Given the description of an element on the screen output the (x, y) to click on. 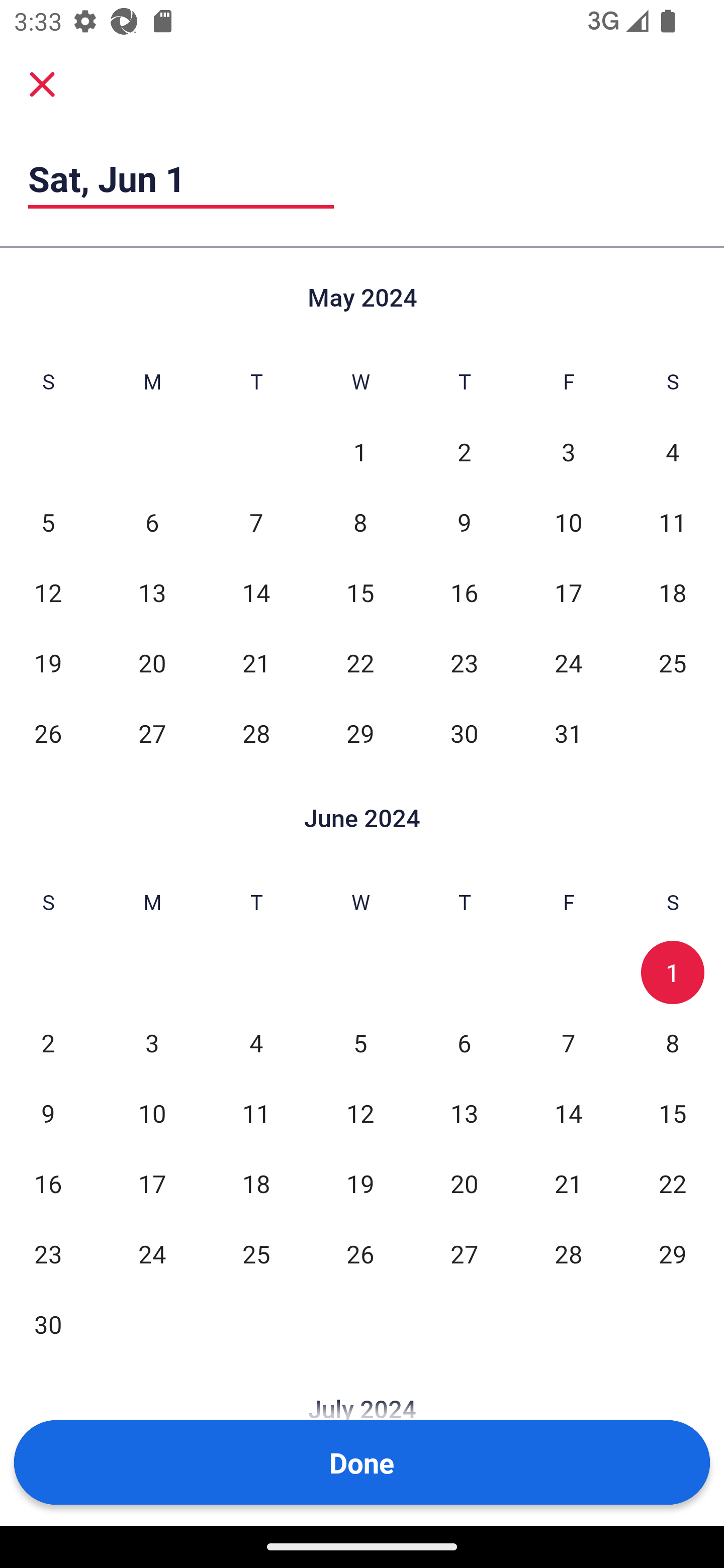
Cancel (41, 83)
Sat, Jun 1 (180, 178)
1 Wed, May 1, Not Selected (360, 452)
2 Thu, May 2, Not Selected (464, 452)
3 Fri, May 3, Not Selected (568, 452)
4 Sat, May 4, Not Selected (672, 452)
5 Sun, May 5, Not Selected (48, 521)
6 Mon, May 6, Not Selected (152, 521)
7 Tue, May 7, Not Selected (256, 521)
8 Wed, May 8, Not Selected (360, 521)
9 Thu, May 9, Not Selected (464, 521)
10 Fri, May 10, Not Selected (568, 521)
11 Sat, May 11, Not Selected (672, 521)
12 Sun, May 12, Not Selected (48, 591)
13 Mon, May 13, Not Selected (152, 591)
14 Tue, May 14, Not Selected (256, 591)
15 Wed, May 15, Not Selected (360, 591)
16 Thu, May 16, Not Selected (464, 591)
17 Fri, May 17, Not Selected (568, 591)
18 Sat, May 18, Not Selected (672, 591)
19 Sun, May 19, Not Selected (48, 662)
20 Mon, May 20, Not Selected (152, 662)
21 Tue, May 21, Not Selected (256, 662)
22 Wed, May 22, Not Selected (360, 662)
23 Thu, May 23, Not Selected (464, 662)
24 Fri, May 24, Not Selected (568, 662)
25 Sat, May 25, Not Selected (672, 662)
26 Sun, May 26, Not Selected (48, 732)
27 Mon, May 27, Not Selected (152, 732)
28 Tue, May 28, Not Selected (256, 732)
29 Wed, May 29, Not Selected (360, 732)
30 Thu, May 30, Not Selected (464, 732)
31 Fri, May 31, Not Selected (568, 732)
1 Sat, Jun 1, Selected (672, 972)
2 Sun, Jun 2, Not Selected (48, 1043)
3 Mon, Jun 3, Not Selected (152, 1043)
4 Tue, Jun 4, Not Selected (256, 1043)
5 Wed, Jun 5, Not Selected (360, 1043)
6 Thu, Jun 6, Not Selected (464, 1043)
7 Fri, Jun 7, Not Selected (568, 1043)
8 Sat, Jun 8, Not Selected (672, 1043)
9 Sun, Jun 9, Not Selected (48, 1112)
10 Mon, Jun 10, Not Selected (152, 1112)
11 Tue, Jun 11, Not Selected (256, 1112)
12 Wed, Jun 12, Not Selected (360, 1112)
13 Thu, Jun 13, Not Selected (464, 1112)
14 Fri, Jun 14, Not Selected (568, 1112)
15 Sat, Jun 15, Not Selected (672, 1112)
16 Sun, Jun 16, Not Selected (48, 1182)
17 Mon, Jun 17, Not Selected (152, 1182)
18 Tue, Jun 18, Not Selected (256, 1182)
19 Wed, Jun 19, Not Selected (360, 1182)
20 Thu, Jun 20, Not Selected (464, 1182)
21 Fri, Jun 21, Not Selected (568, 1182)
22 Sat, Jun 22, Not Selected (672, 1182)
23 Sun, Jun 23, Not Selected (48, 1253)
24 Mon, Jun 24, Not Selected (152, 1253)
25 Tue, Jun 25, Not Selected (256, 1253)
26 Wed, Jun 26, Not Selected (360, 1253)
27 Thu, Jun 27, Not Selected (464, 1253)
28 Fri, Jun 28, Not Selected (568, 1253)
29 Sat, Jun 29, Not Selected (672, 1253)
30 Sun, Jun 30, Not Selected (48, 1323)
Done Button Done (361, 1462)
